Given the description of an element on the screen output the (x, y) to click on. 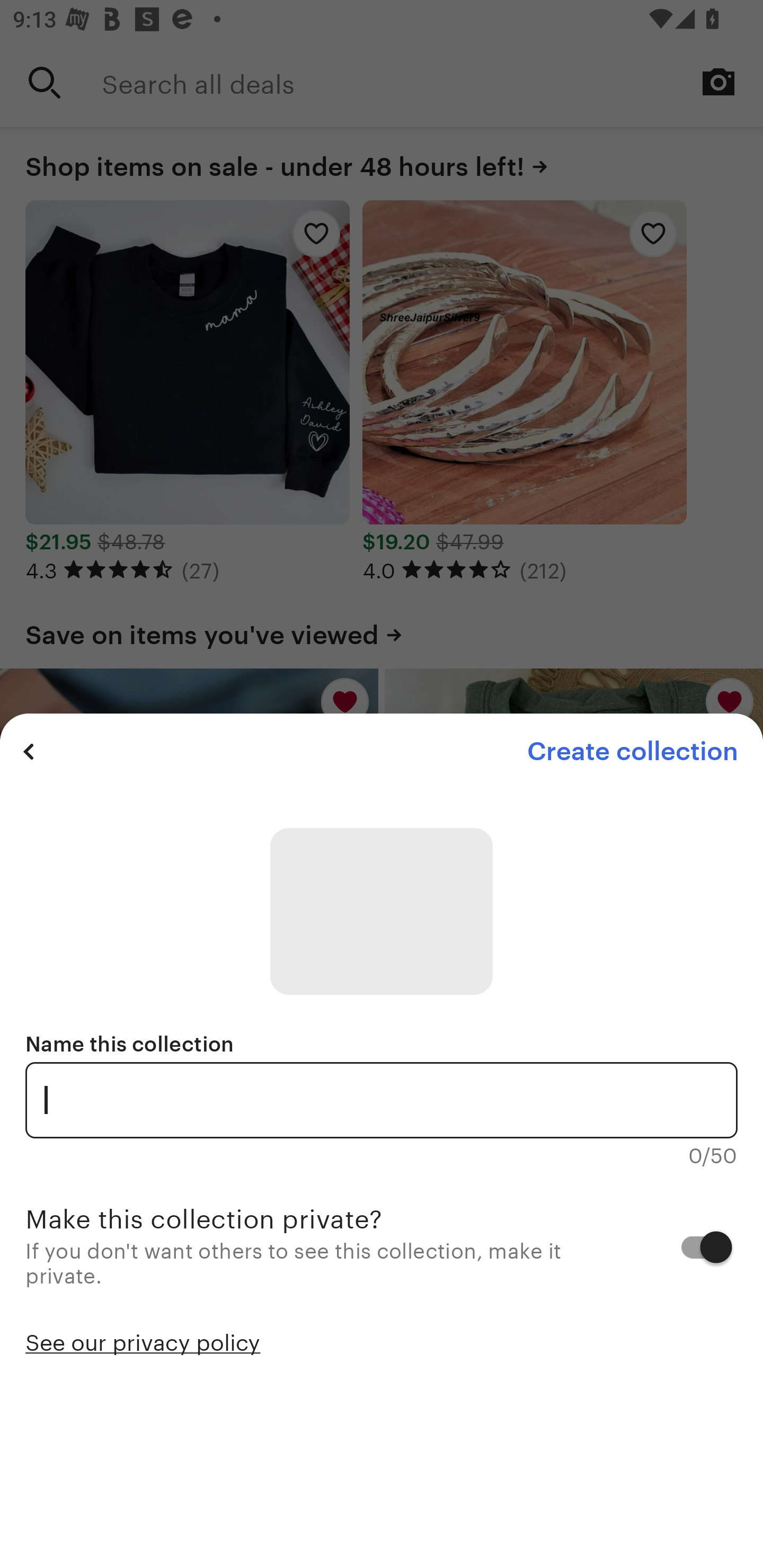
Previous (28, 751)
Create collection (632, 751)
See our privacy policy (142, 1341)
